Given the description of an element on the screen output the (x, y) to click on. 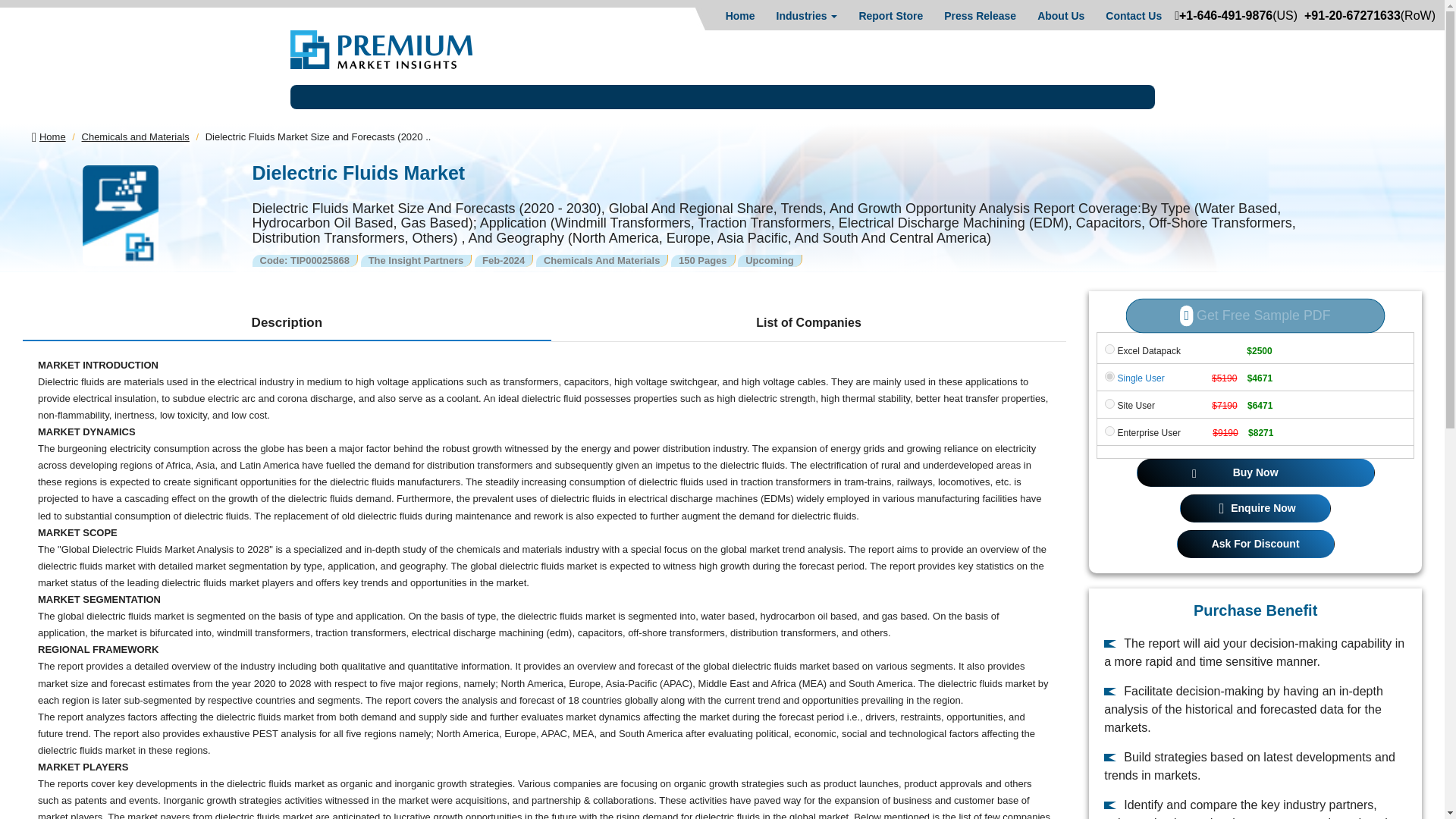
About Us (1060, 15)
Report Store (891, 15)
Contact Us (1133, 15)
Industries (807, 15)
Home (740, 15)
Logo (380, 48)
Press Release (979, 15)
Buy Now (1255, 472)
